Given the description of an element on the screen output the (x, y) to click on. 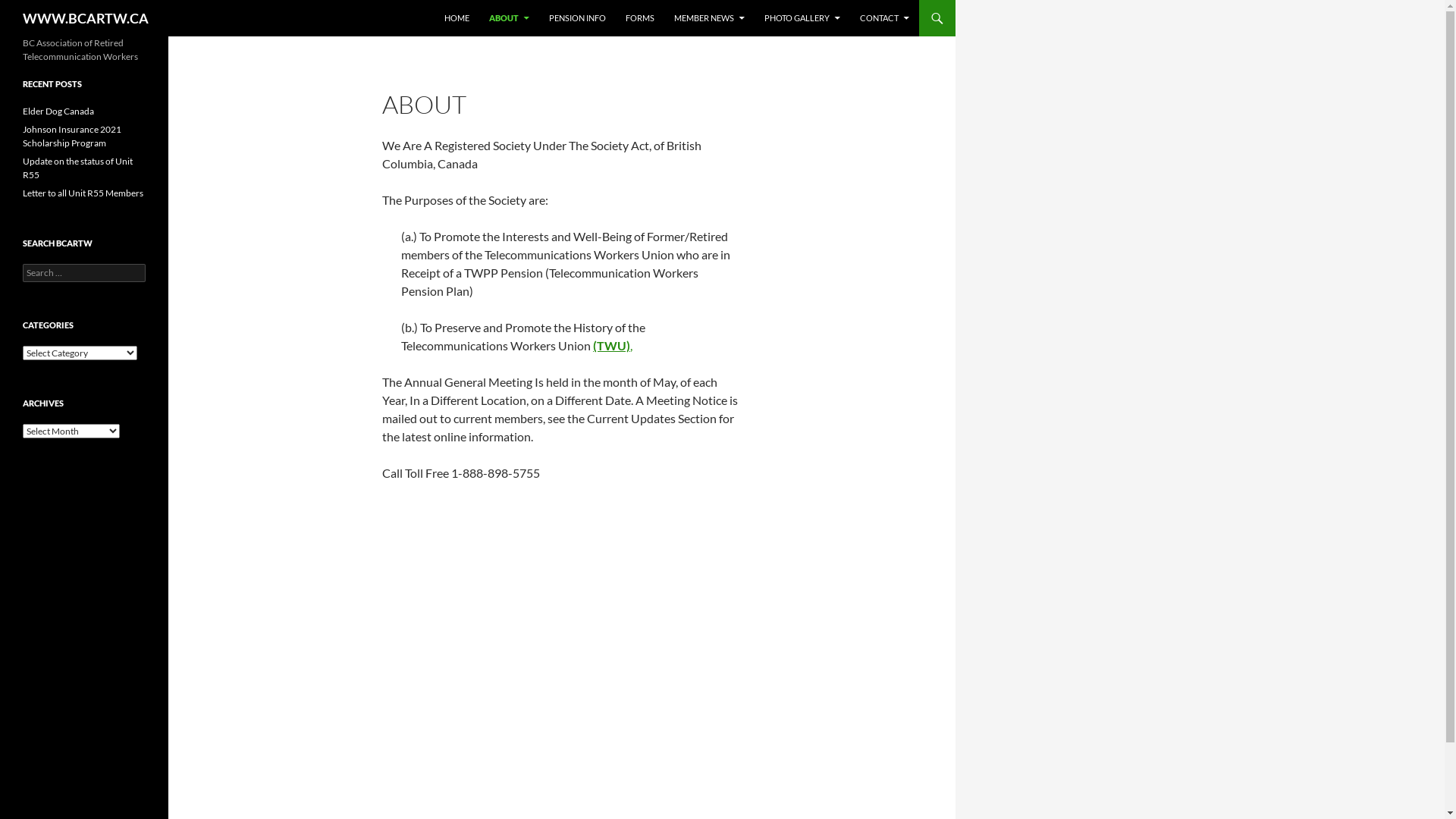
Johnson Insurance 2021 Scholarship Program Element type: text (71, 135)
Update on the status of Unit R55 Element type: text (77, 167)
Letter to all Unit R55 Members Element type: text (82, 192)
FORMS Element type: text (639, 18)
HOME Element type: text (456, 18)
ABOUT Element type: text (509, 18)
CONTACT Element type: text (884, 18)
Search Element type: text (29, 9)
MEMBER NEWS Element type: text (709, 18)
Elder Dog Canada Element type: text (58, 110)
(TWU), Element type: text (612, 345)
WWW.BCARTW.CA Element type: text (85, 18)
PENSION INFO Element type: text (577, 18)
PHOTO GALLERY Element type: text (802, 18)
